Given the description of an element on the screen output the (x, y) to click on. 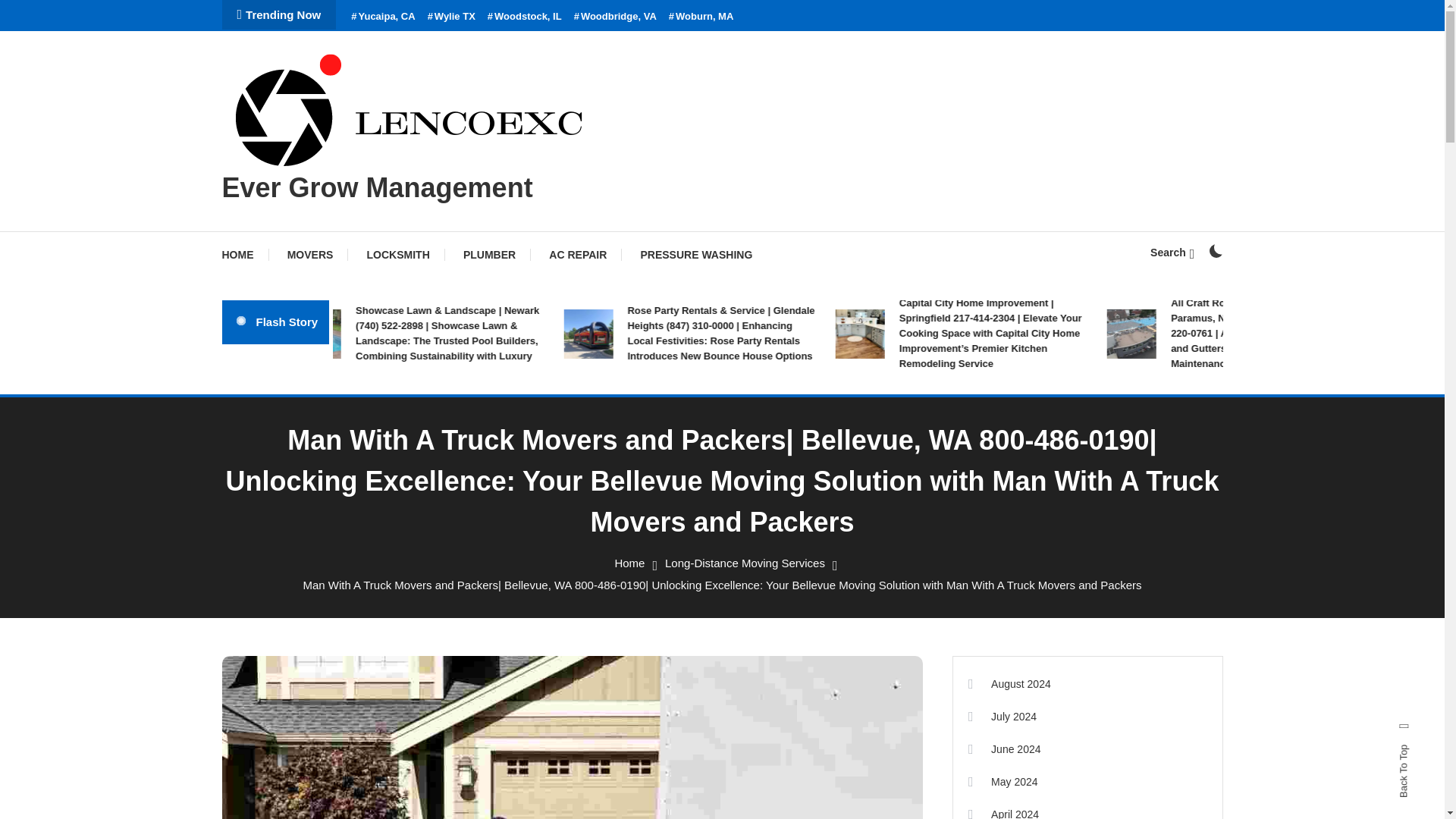
PRESSURE WASHING (695, 254)
HOME (244, 254)
LOCKSMITH (398, 254)
Search (1171, 252)
on (1215, 250)
Yucaipa, CA (382, 16)
Woburn, MA (700, 16)
Search (768, 434)
Long-Distance Moving Services (745, 562)
AC REPAIR (577, 254)
